Given the description of an element on the screen output the (x, y) to click on. 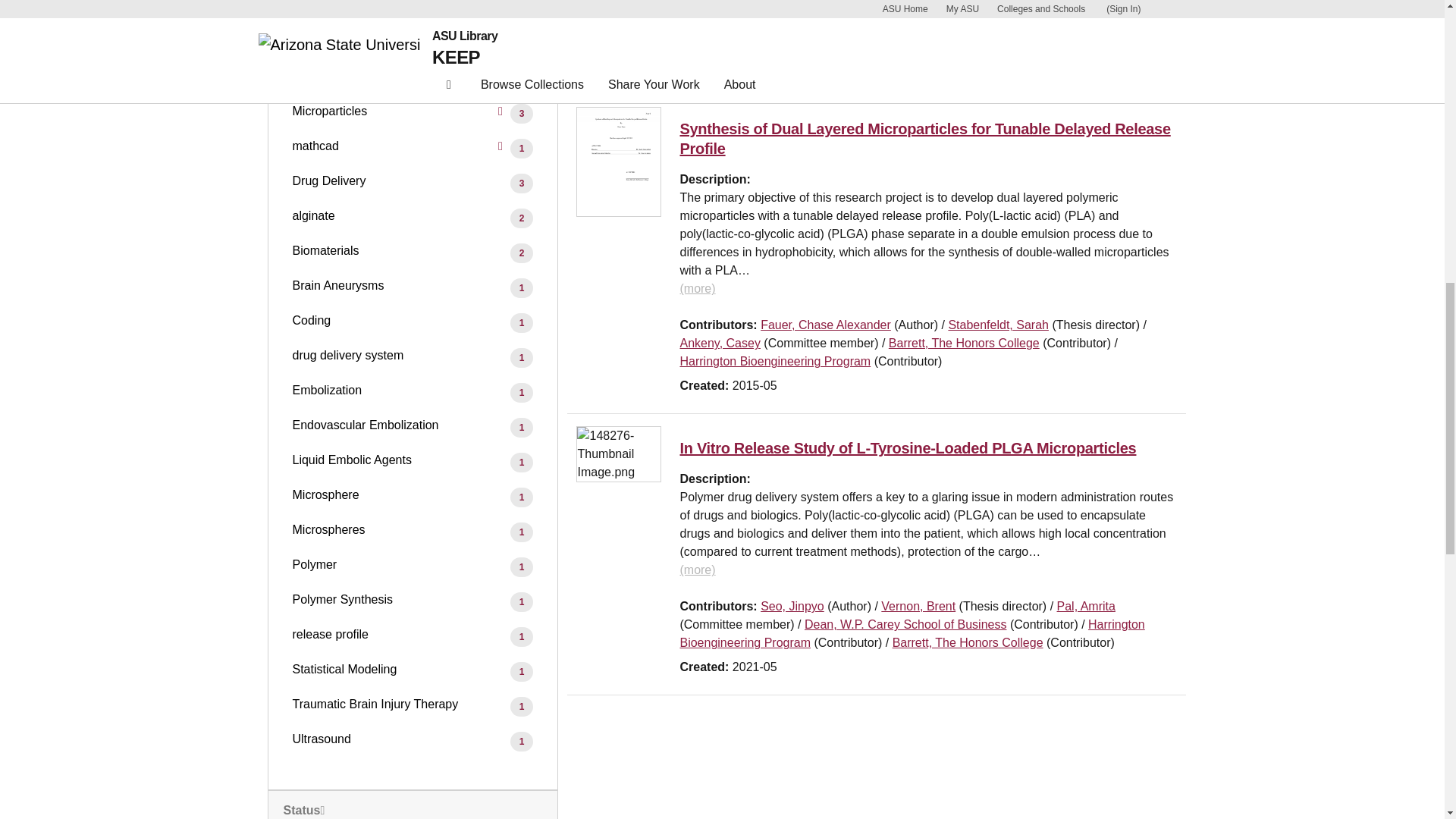
Barrett, The Honors College (754, 42)
Nickle, Jacob (1099, 6)
Harrington Bioengineering Program (900, 23)
Vernon, Brent (925, 6)
Han, Priscilla (795, 6)
